Given the description of an element on the screen output the (x, y) to click on. 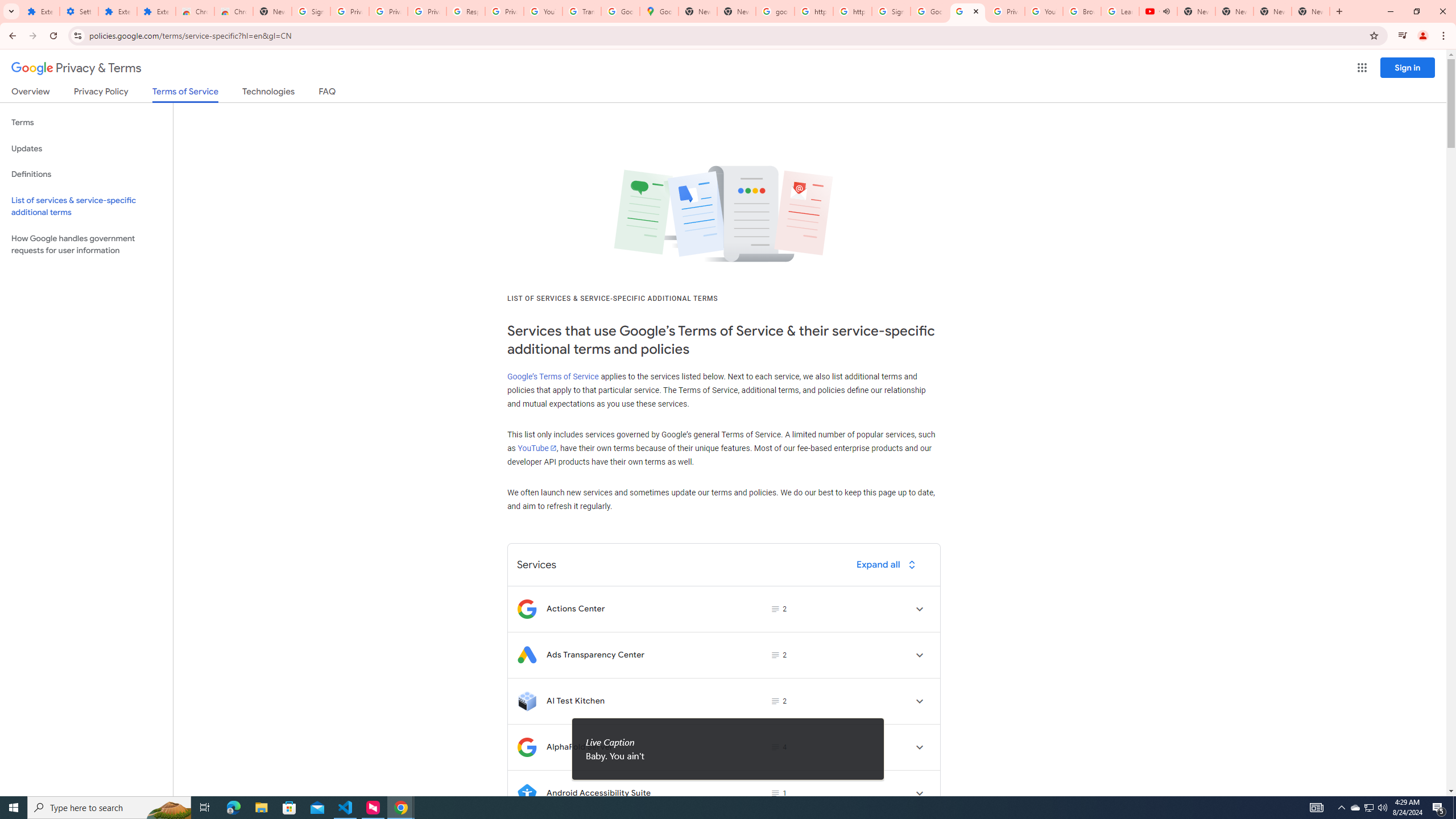
Extensions (40, 11)
